Given the description of an element on the screen output the (x, y) to click on. 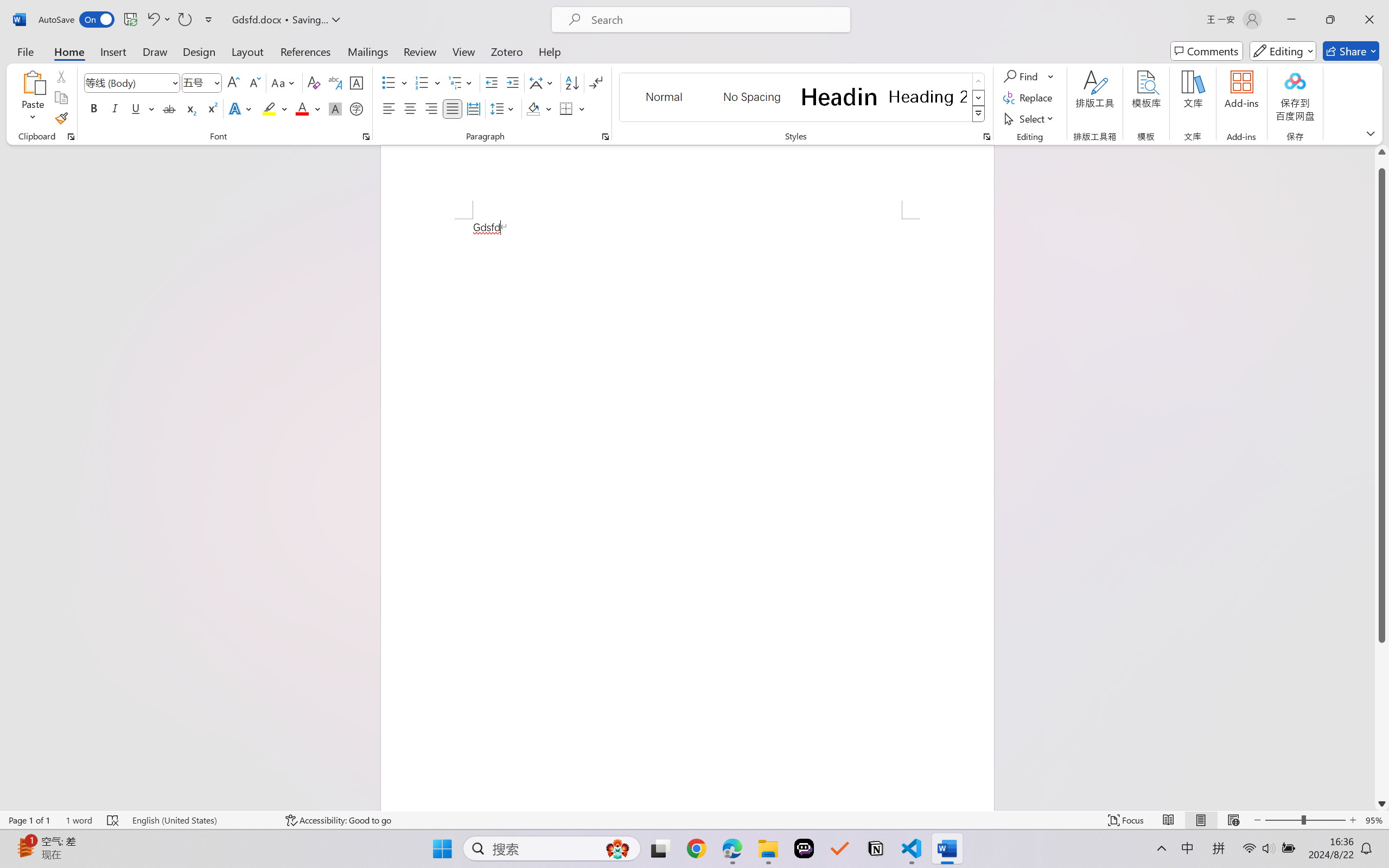
Format Painter (60, 118)
Heading 2 (927, 96)
Page 1 content (687, 514)
Italic (115, 108)
Class: NetUIScrollBar (1382, 477)
Asian Layout (542, 82)
Superscript (210, 108)
